Given the description of an element on the screen output the (x, y) to click on. 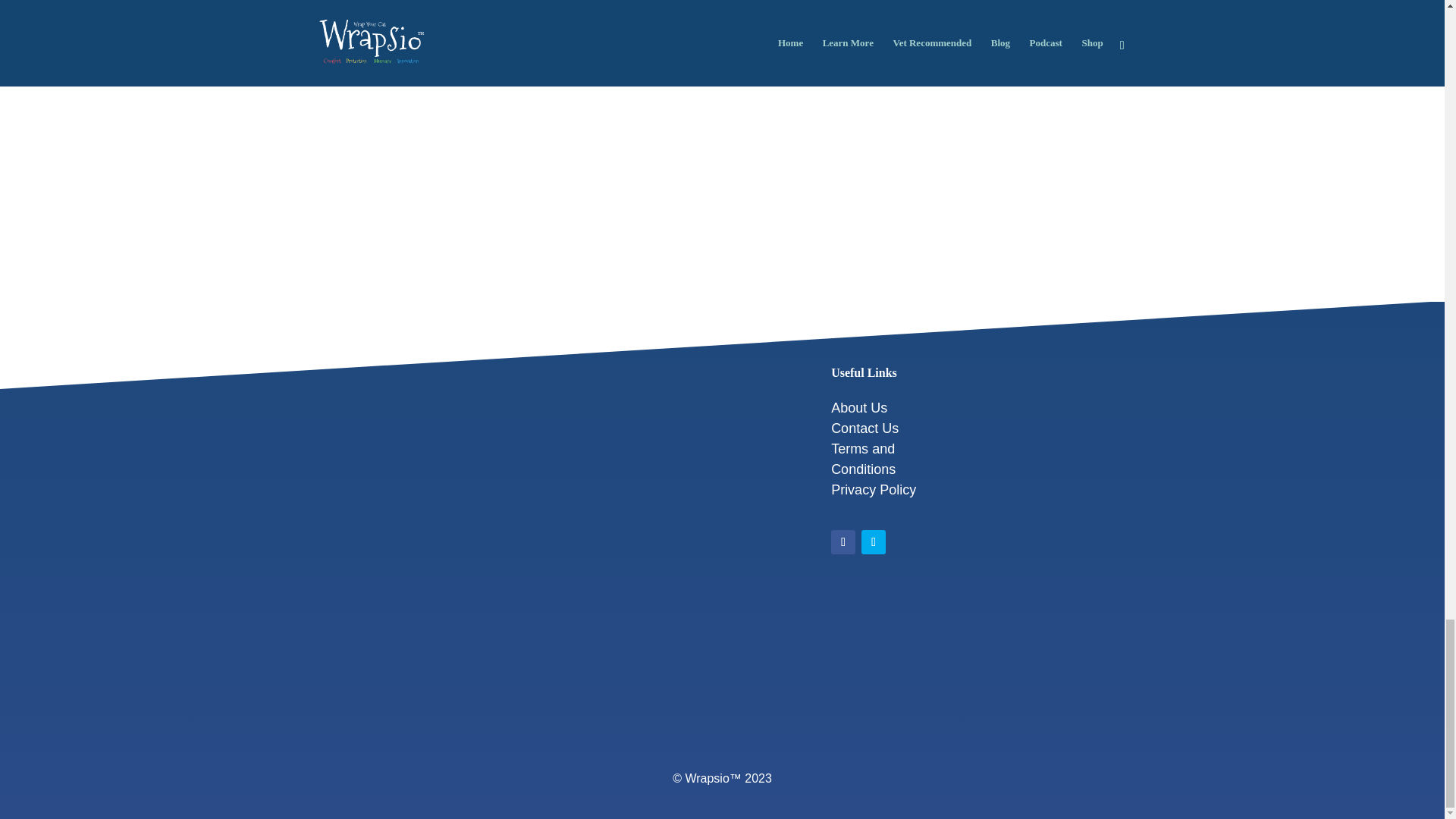
Privacy Policy (873, 489)
Follow on Facebook (843, 541)
Terms and Conditions (863, 458)
Follow on Twitter (873, 541)
Contact Us (864, 427)
About Us (858, 407)
